Given the description of an element on the screen output the (x, y) to click on. 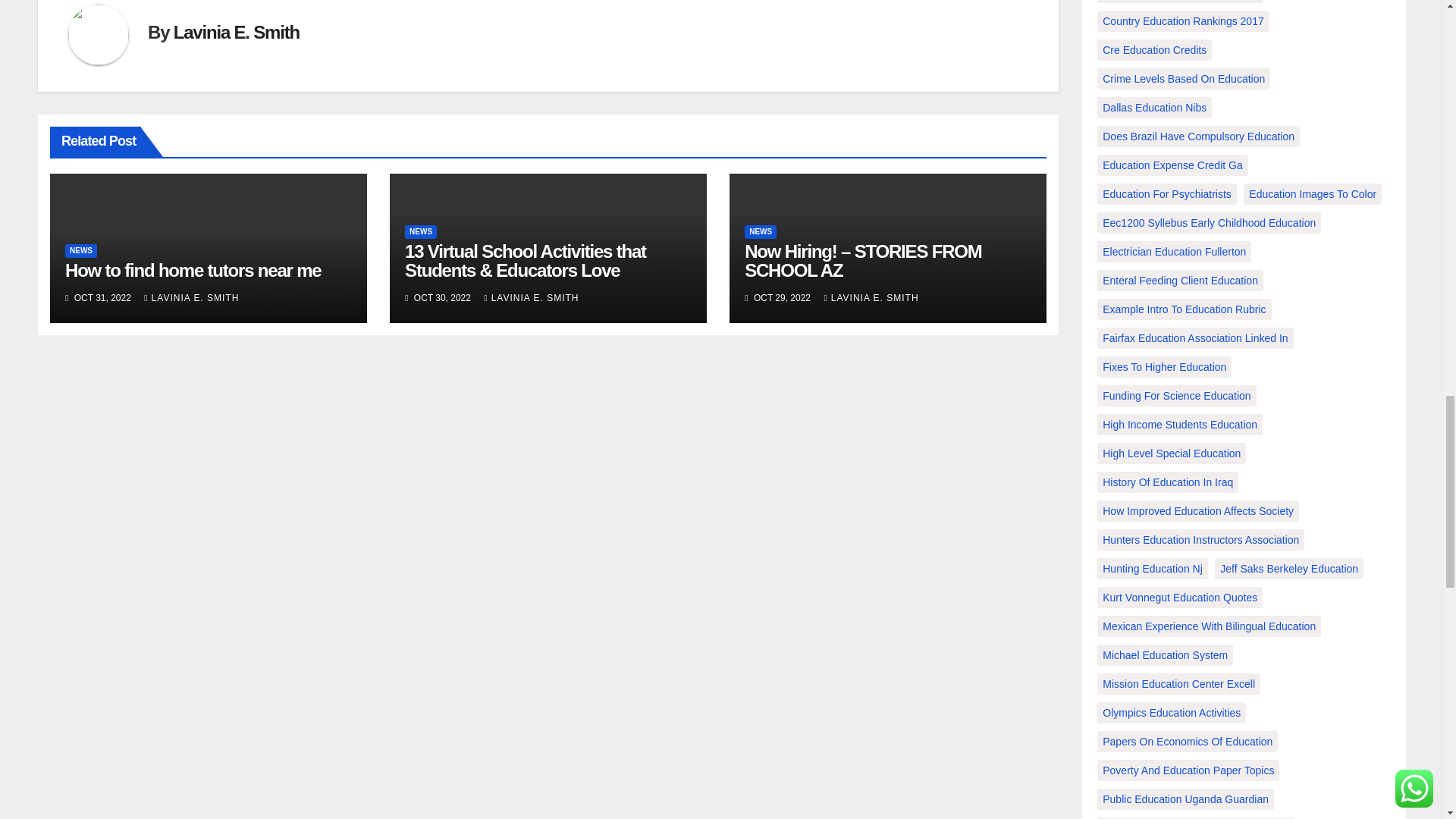
Permalink to: How to find home tutors near me (192, 270)
NEWS (81, 250)
Lavinia E. Smith (236, 32)
